Given the description of an element on the screen output the (x, y) to click on. 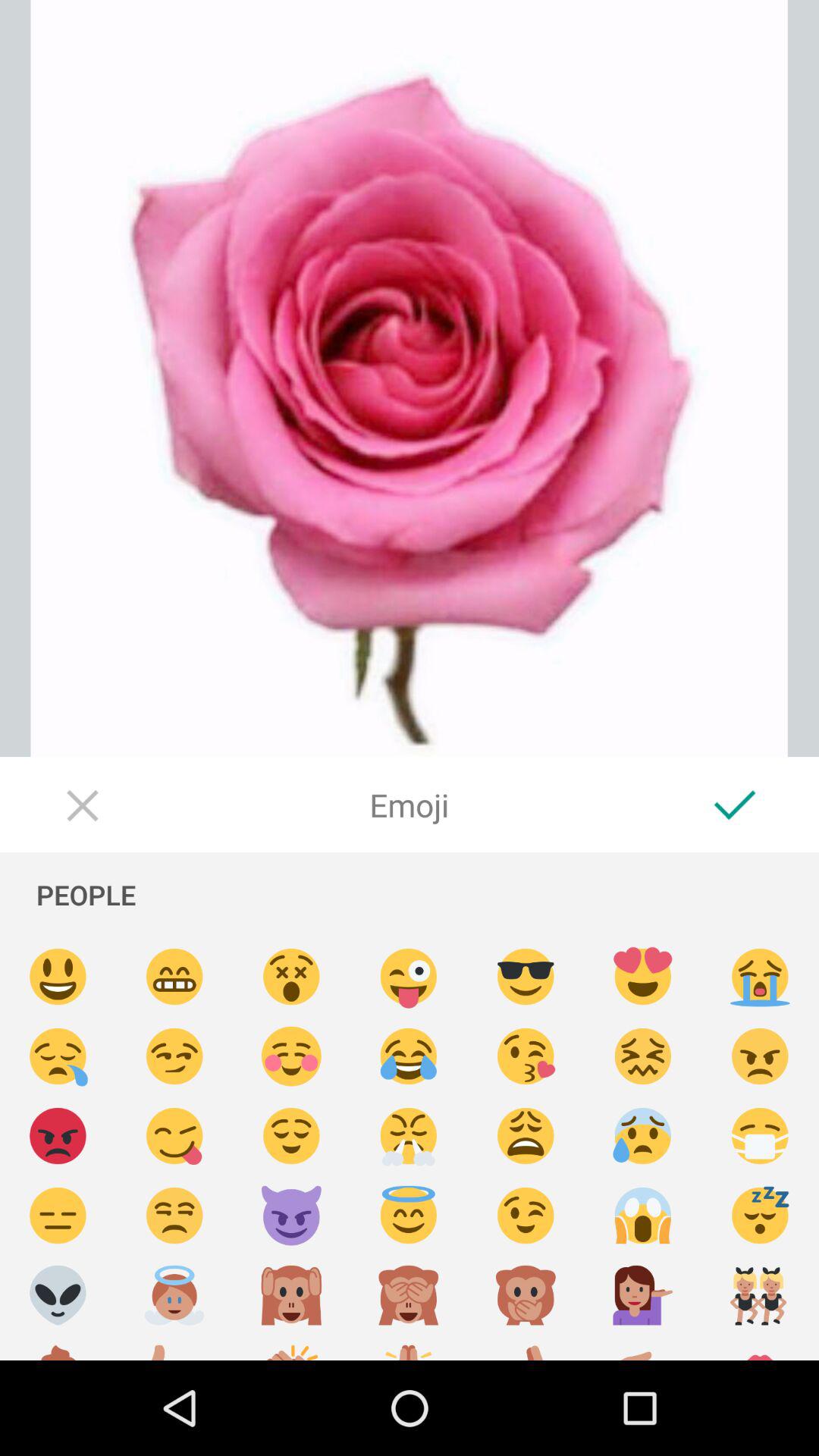
select emoji (525, 976)
